Given the description of an element on the screen output the (x, y) to click on. 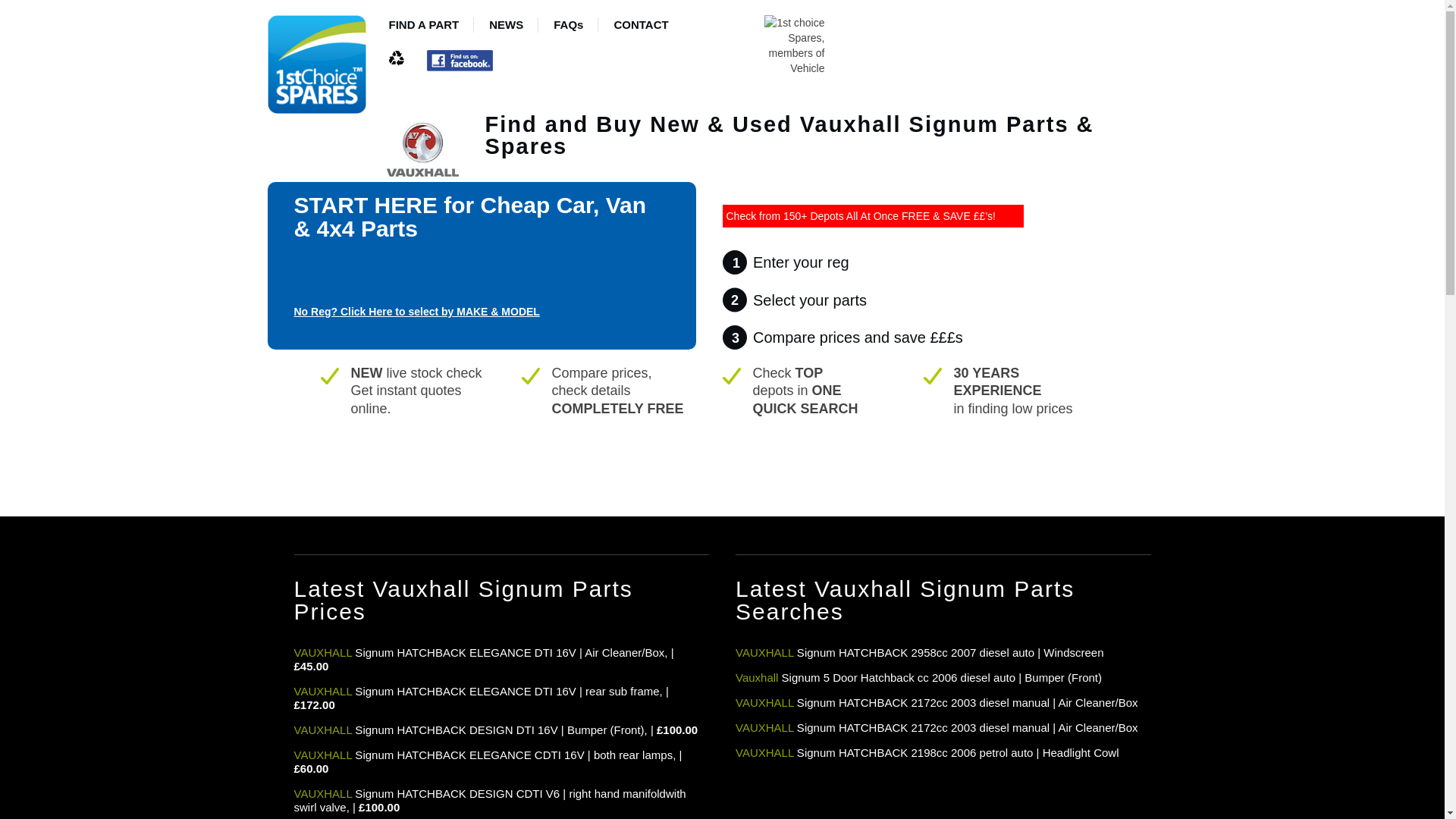
VAUXHALL (764, 702)
VAUXHALL (323, 652)
FAQs (568, 27)
VAUXHALL (323, 754)
VAUXHALL (764, 752)
Reviews Widget (708, 447)
VAUXHALL (323, 793)
CONTACT (640, 27)
FIND A PART (423, 27)
NEWS (505, 27)
VAUXHALL (764, 727)
Vauxhall (756, 676)
VAUXHALL (323, 690)
VAUXHALL (323, 729)
VAUXHALL (764, 652)
